Given the description of an element on the screen output the (x, y) to click on. 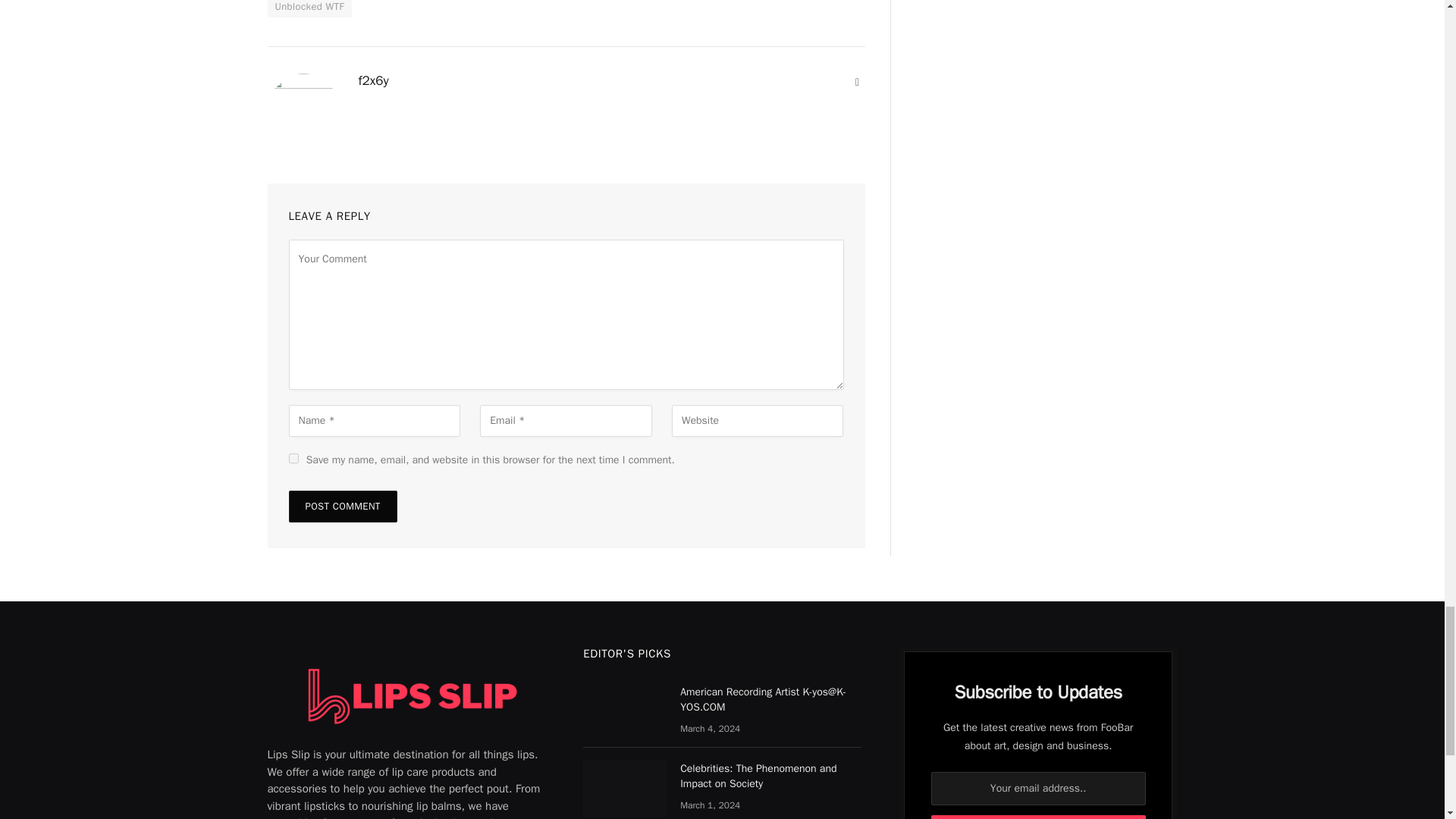
Subscribe (1038, 816)
Post Comment (342, 506)
Website (856, 82)
f2x6y (373, 80)
Post Comment (342, 506)
Unblocked WTF (309, 8)
yes (293, 458)
